Given the description of an element on the screen output the (x, y) to click on. 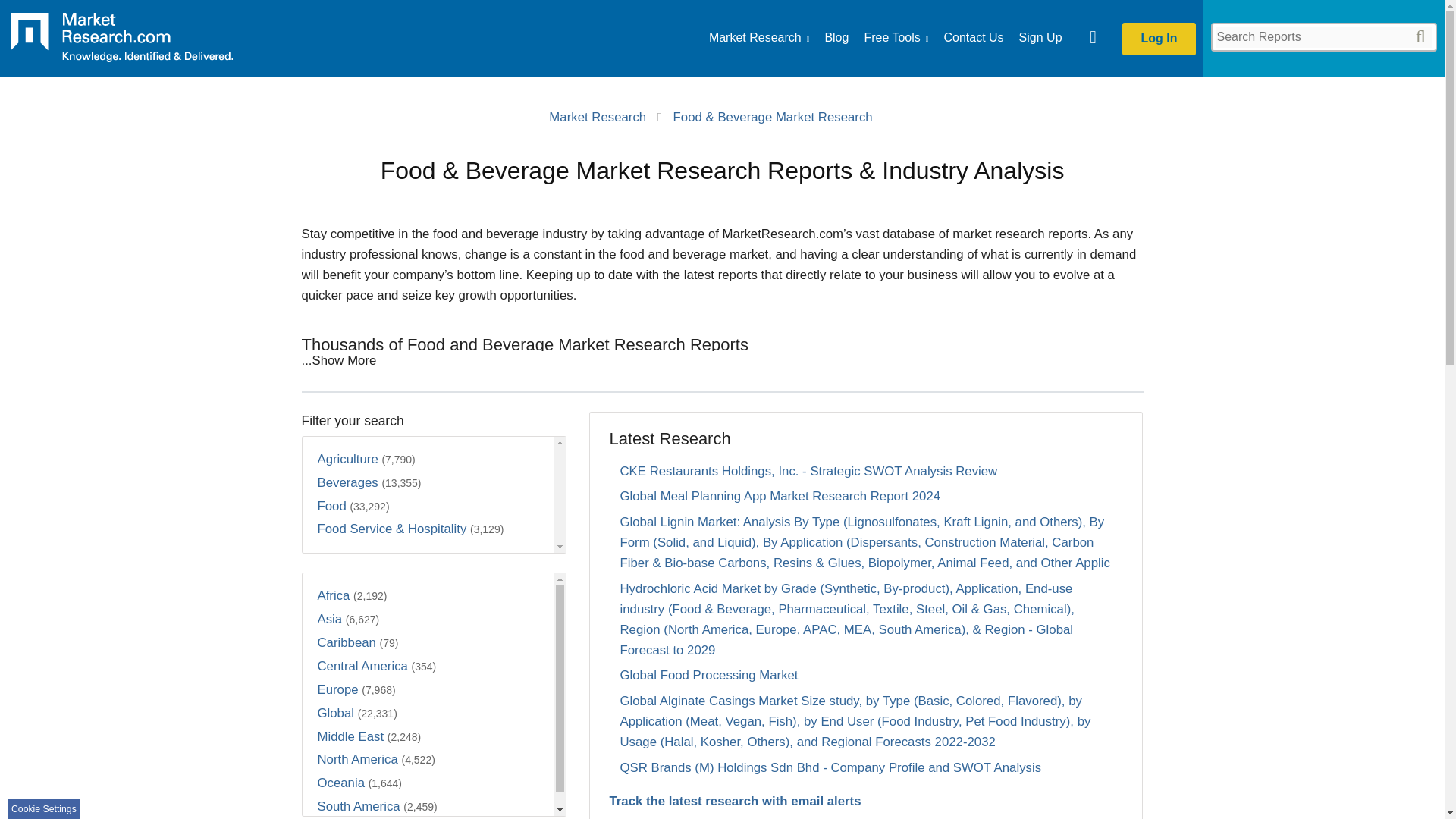
Sign Up (1040, 37)
Market Research (759, 37)
Browse Market Research Industries (759, 37)
Market Research (121, 42)
Sign Up (1040, 37)
Log In (1159, 38)
Track the latest research with email alerts (865, 801)
Free Tools (895, 37)
Market Research (597, 116)
Get in touch with MarketResearch.com (973, 37)
...Show More (339, 359)
Contact Us (973, 37)
Learn more about market research with these free tools (895, 37)
Global Meal Planning App Market Research Report 2024 (780, 495)
